Given the description of an element on the screen output the (x, y) to click on. 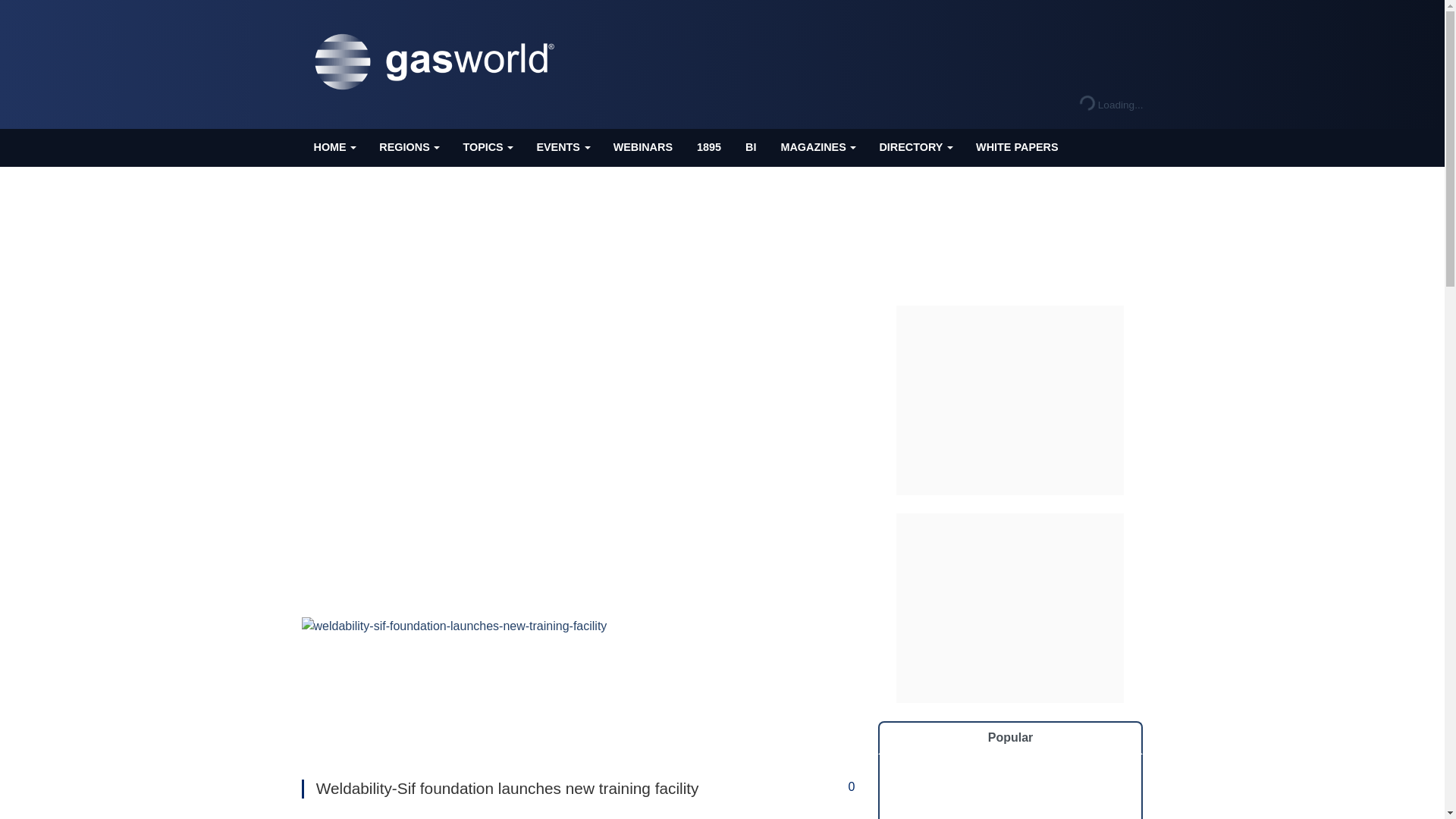
Regions (407, 146)
gasworld (438, 62)
REGIONS (407, 146)
Topics (486, 146)
TOPICS (486, 146)
Home (334, 146)
HOME (334, 146)
